Given the description of an element on the screen output the (x, y) to click on. 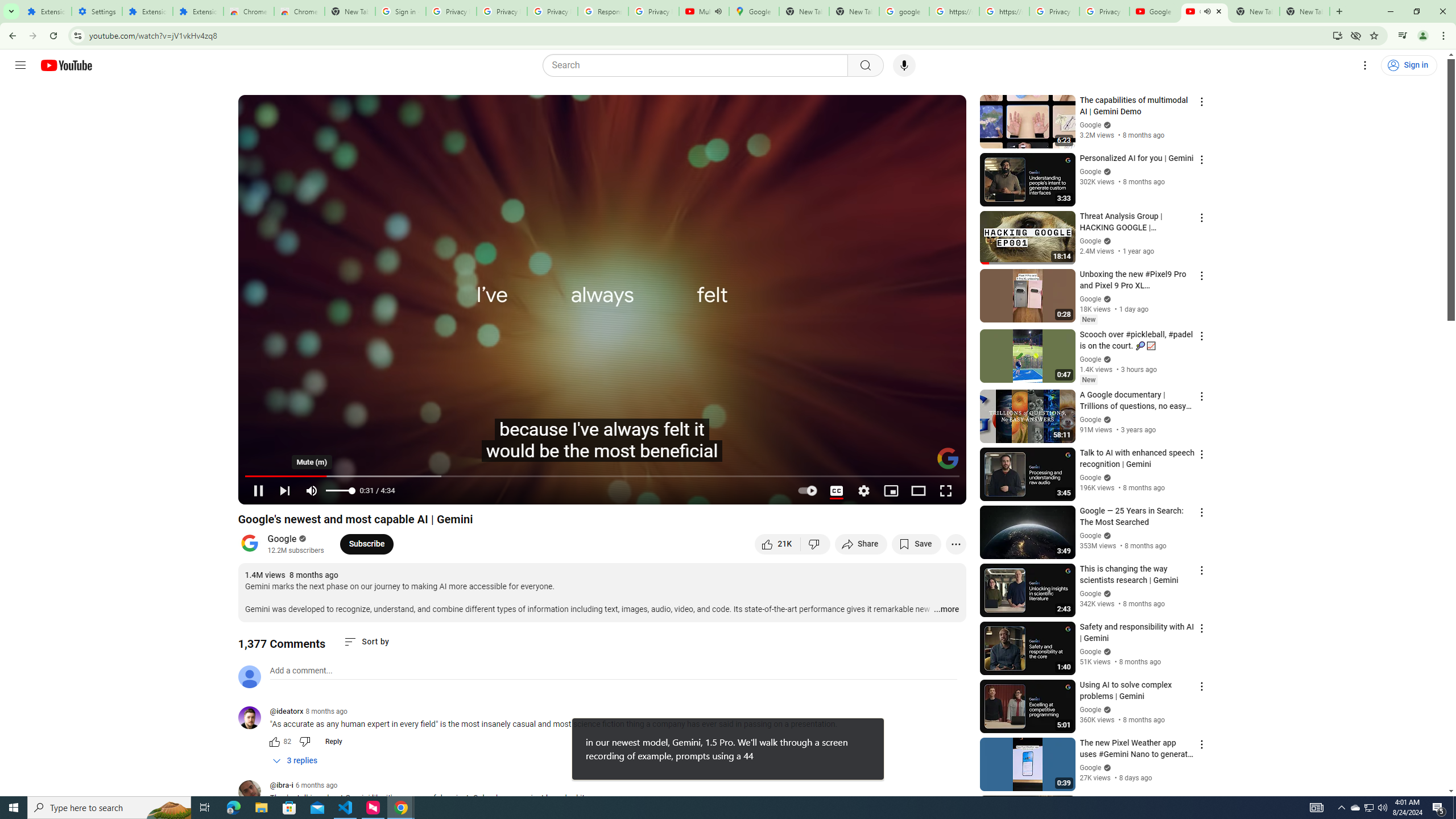
Google Maps (753, 11)
Extensions (46, 11)
Seek slider (601, 476)
8 months ago (326, 710)
New (1087, 379)
Theater mode (t) (917, 490)
@ideatorx (286, 711)
